Given the description of an element on the screen output the (x, y) to click on. 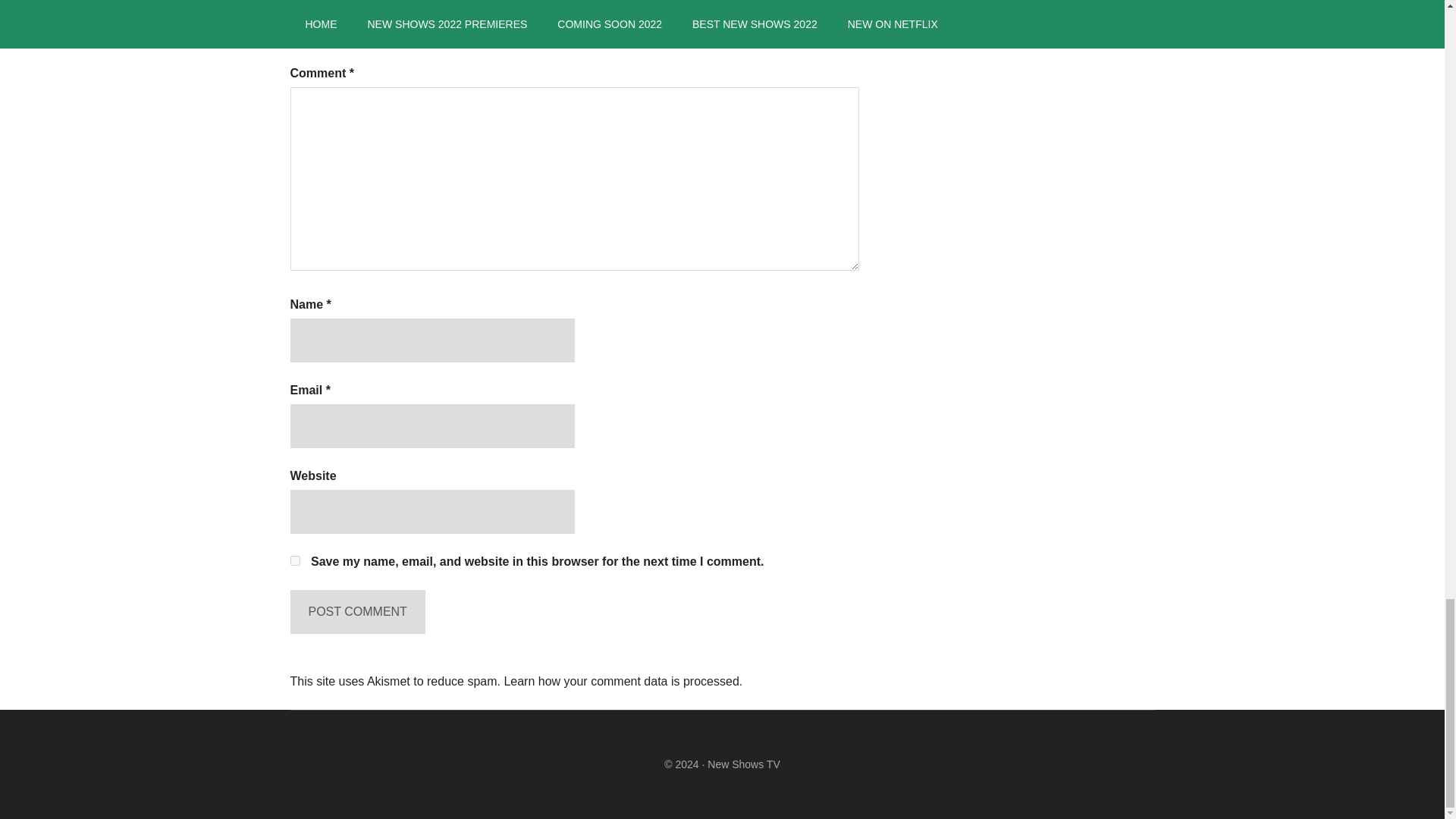
Post Comment (357, 611)
Post Comment (357, 611)
yes (294, 560)
Learn how your comment data is processed (620, 680)
